Given the description of an element on the screen output the (x, y) to click on. 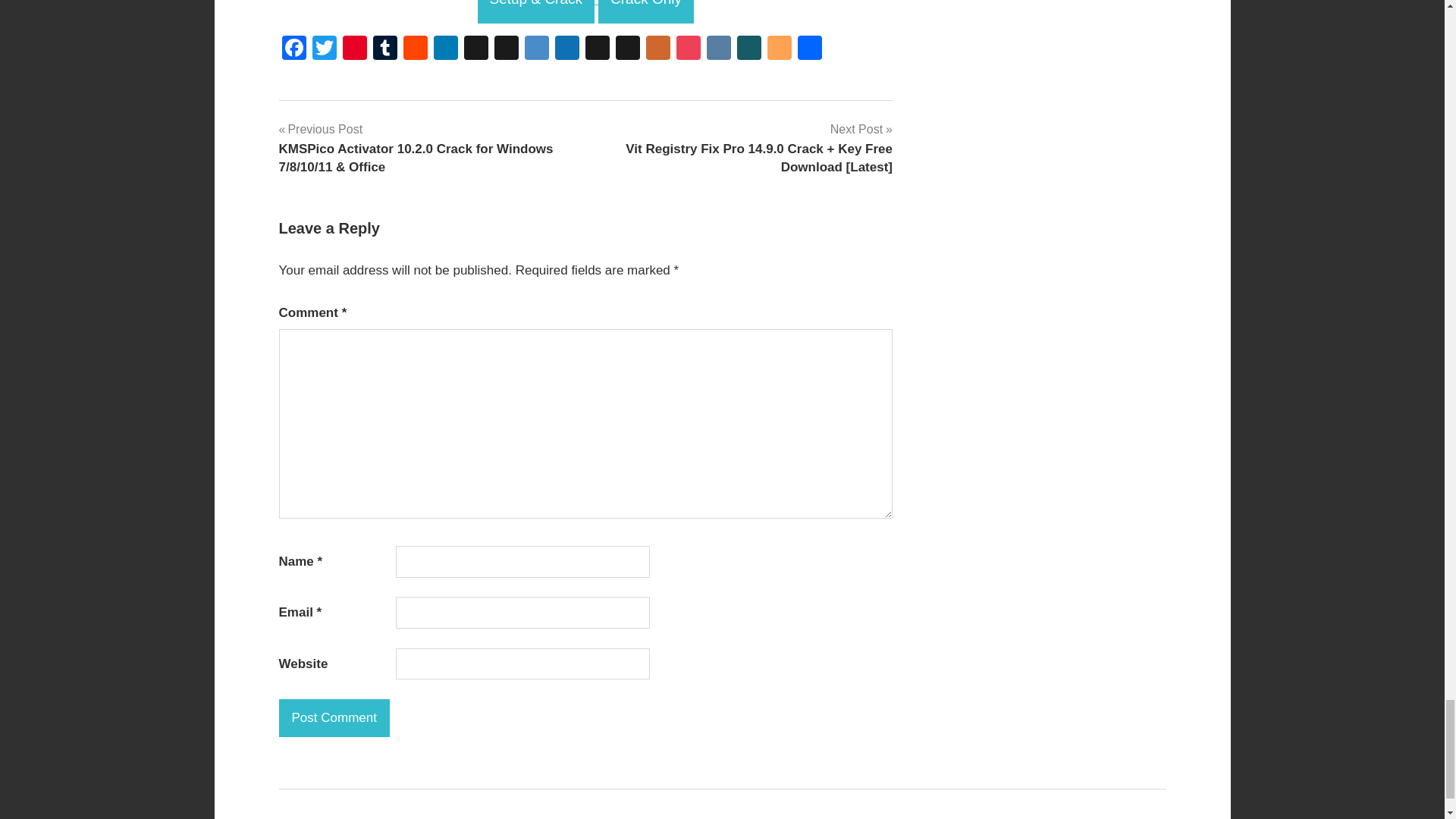
Facebook (293, 49)
Twitter (323, 49)
Diigo (536, 49)
Twitter (323, 49)
Tumblr (384, 49)
Reddit (415, 49)
Pinterest (354, 49)
Post Comment (334, 718)
LinkedIn (445, 49)
Crack Only (646, 11)
